Given the description of an element on the screen output the (x, y) to click on. 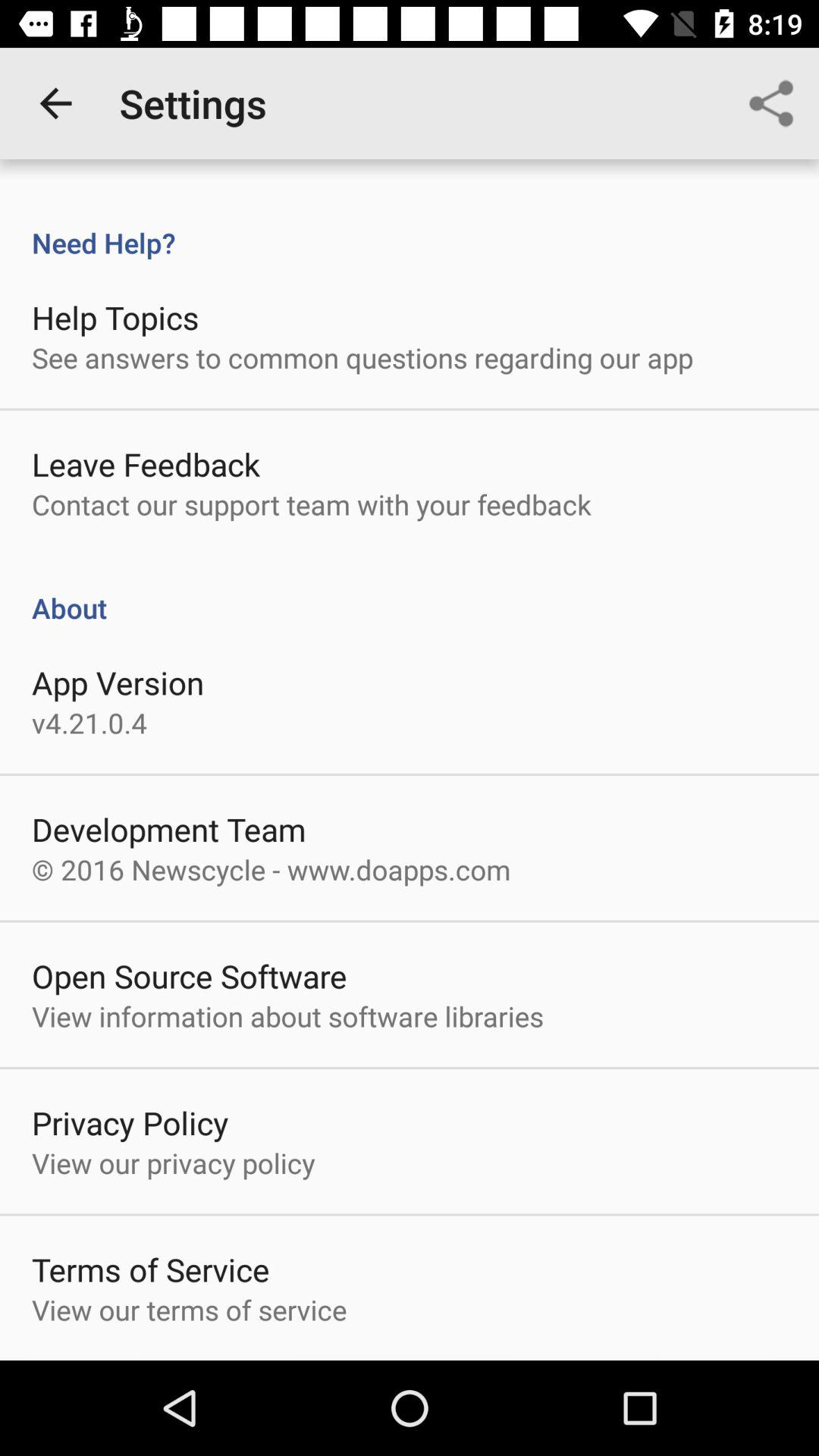
turn on item below need help? icon (115, 316)
